Given the description of an element on the screen output the (x, y) to click on. 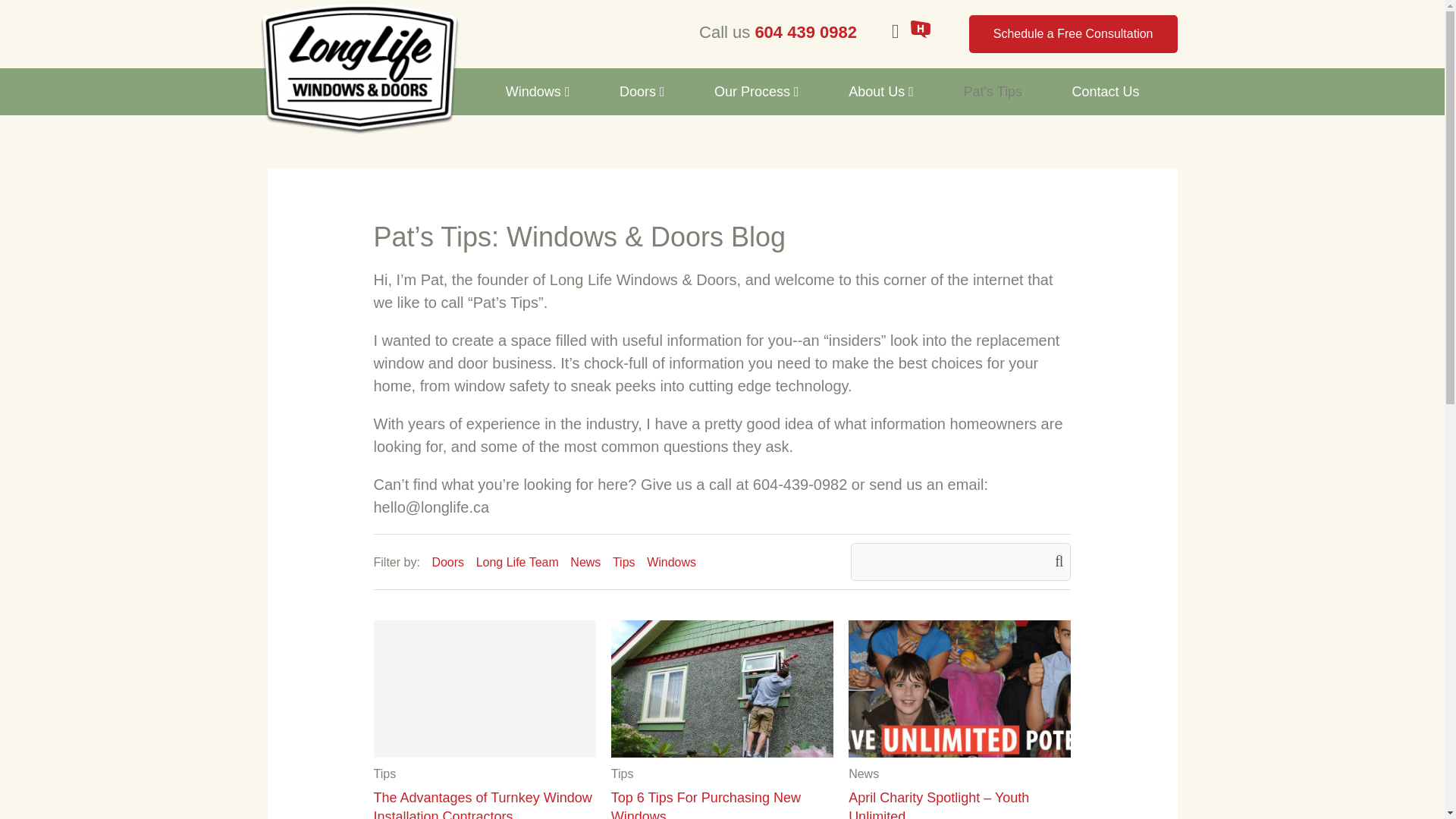
Doors (641, 92)
604 439 0982 (807, 31)
Contact Us (1105, 92)
About Us (881, 92)
Schedule a Free Consultation (1073, 34)
Our Process (756, 92)
Screen-shot-2013-04-03-at-2.23.03-PM (959, 688)
Pat's Tips (992, 92)
longlife-window-installation (721, 688)
Windows (537, 92)
